Given the description of an element on the screen output the (x, y) to click on. 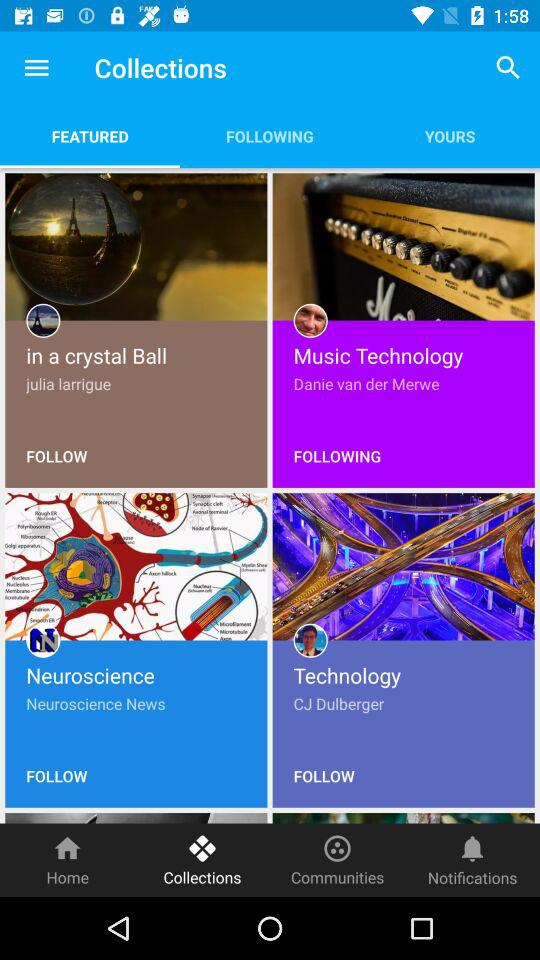
turn off item to the left of collections item (36, 67)
